Given the description of an element on the screen output the (x, y) to click on. 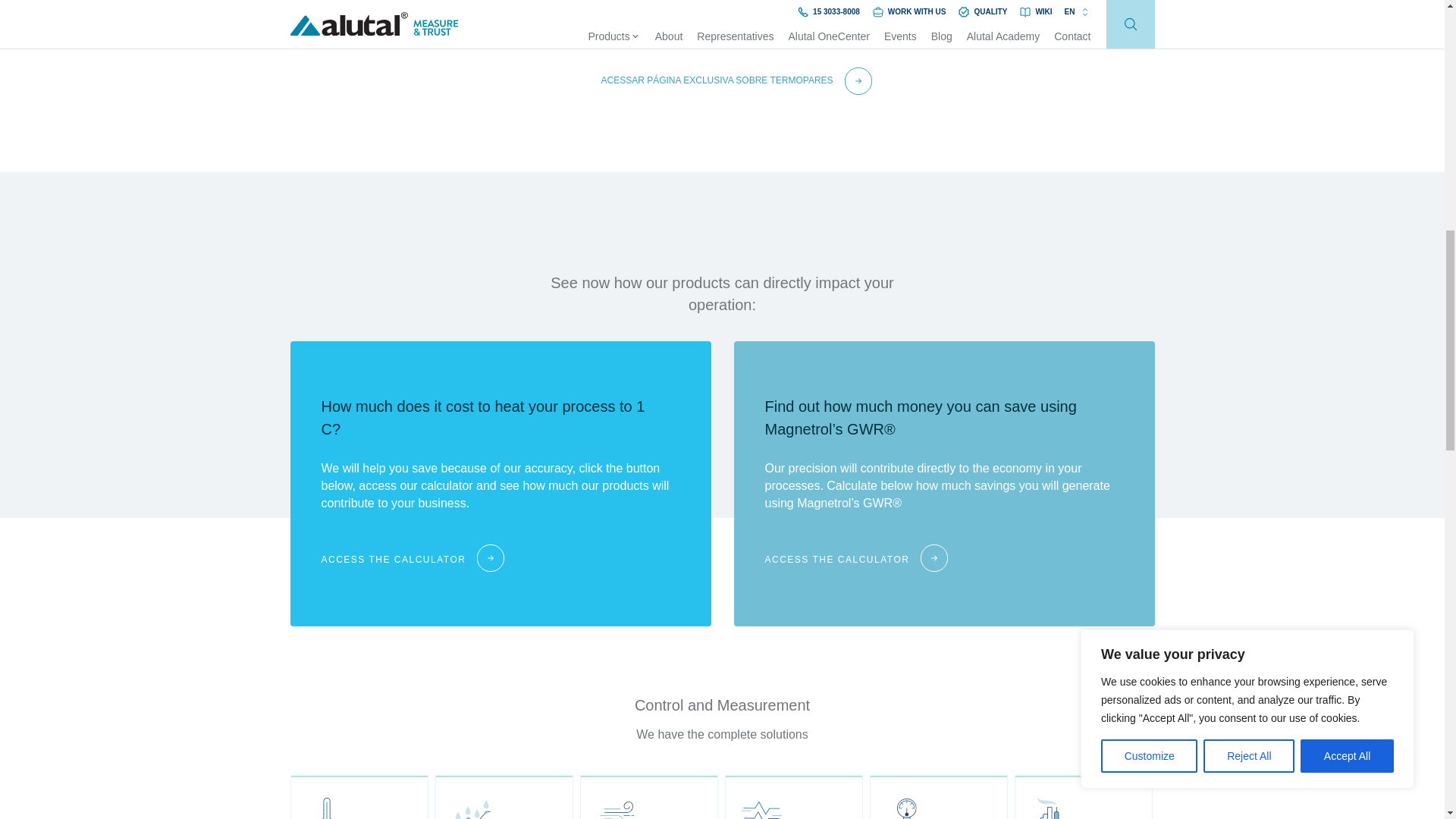
Vibration (794, 796)
Temperature (358, 796)
Level and Volume (504, 796)
Pressure (938, 796)
Gas (1083, 796)
Flow (648, 796)
